Given the description of an element on the screen output the (x, y) to click on. 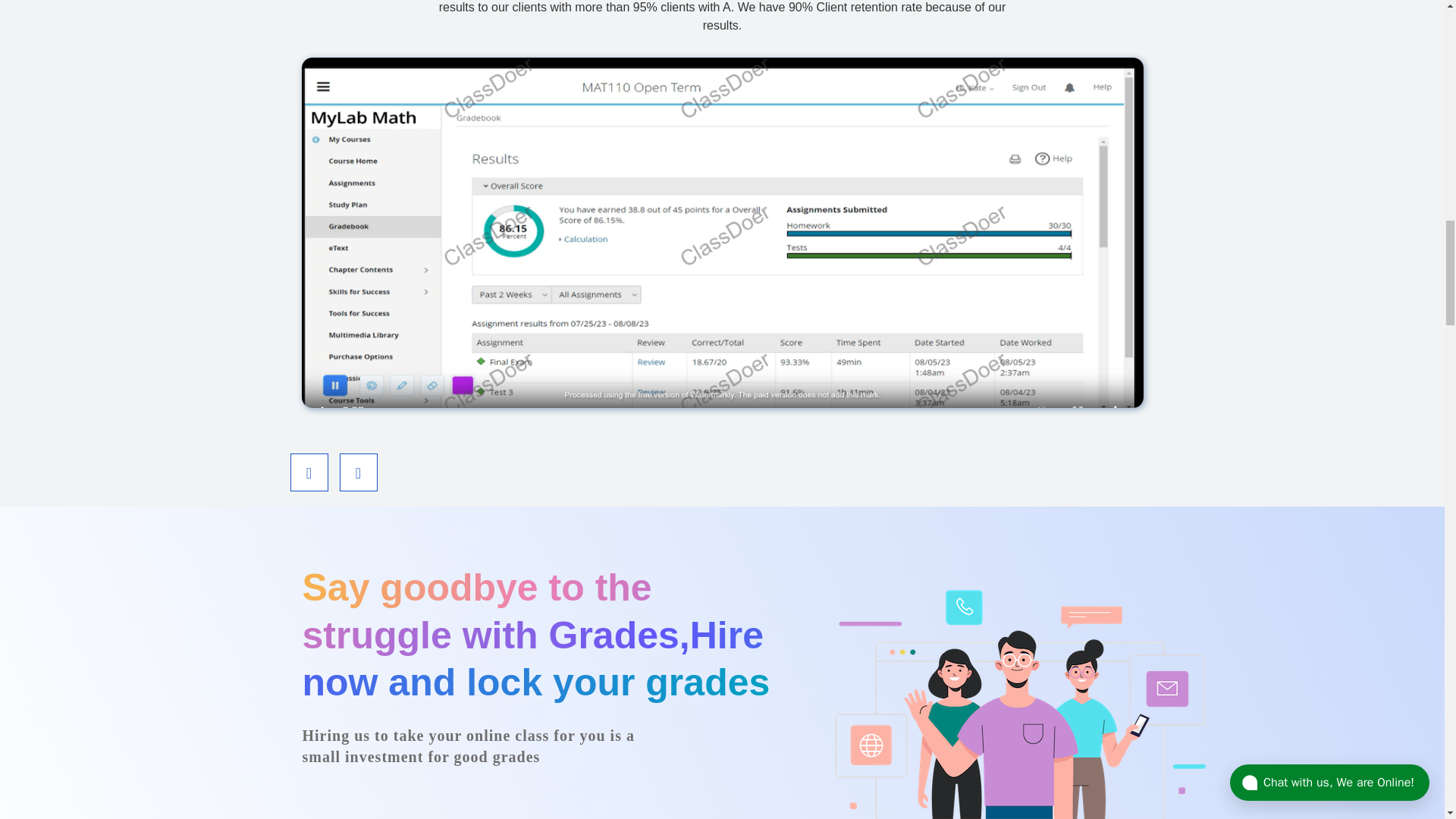
Next (358, 472)
Previous (308, 472)
